Given the description of an element on the screen output the (x, y) to click on. 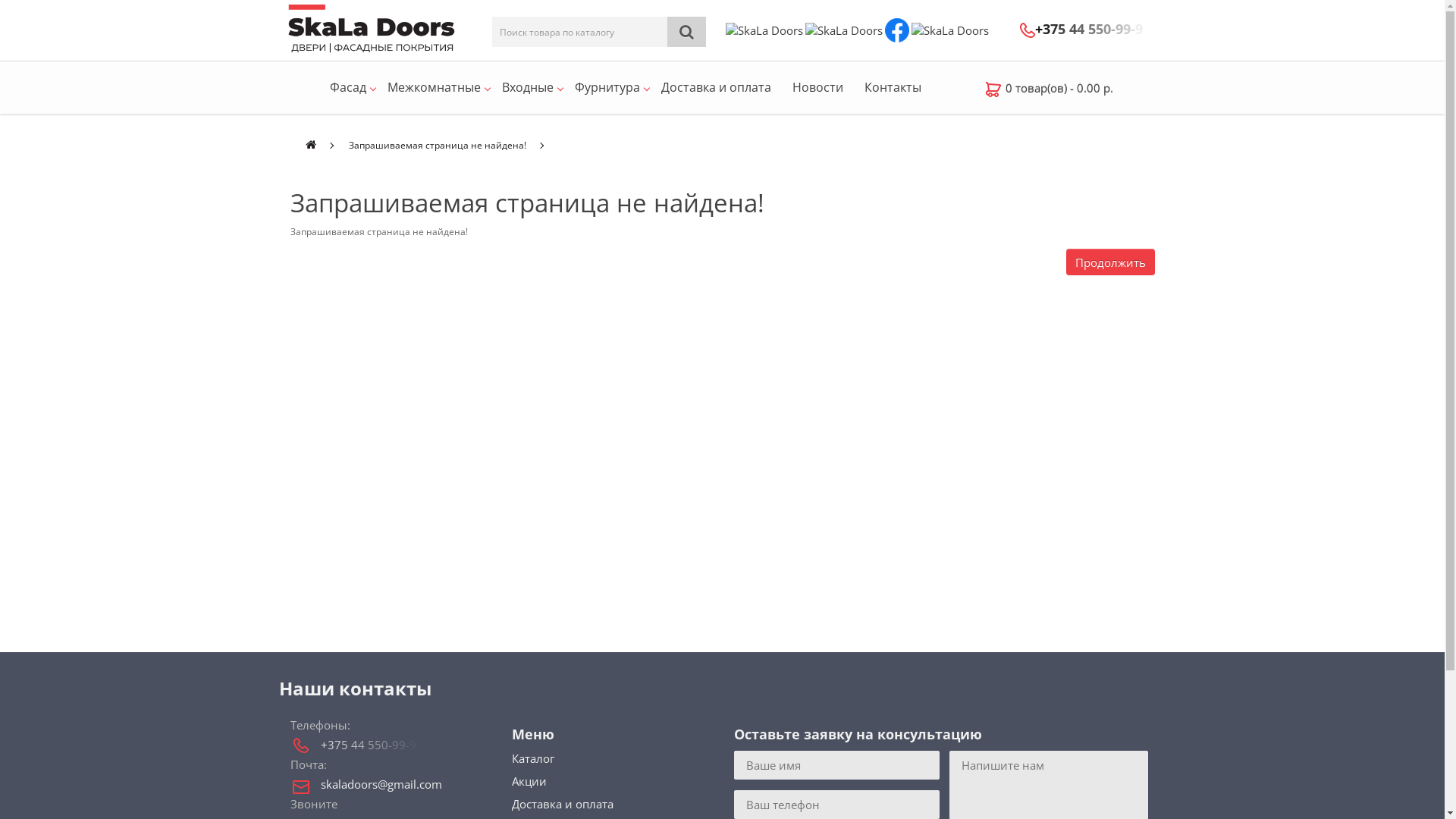
+375 44 550-99-9 Element type: text (1079, 28)
+375 44 550-99-9 Element type: text (404, 744)
  Element type: hover (993, 89)
SkaLa Doors Element type: hover (373, 29)
skaladoors@gmail.com Element type: text (404, 783)
